Given the description of an element on the screen output the (x, y) to click on. 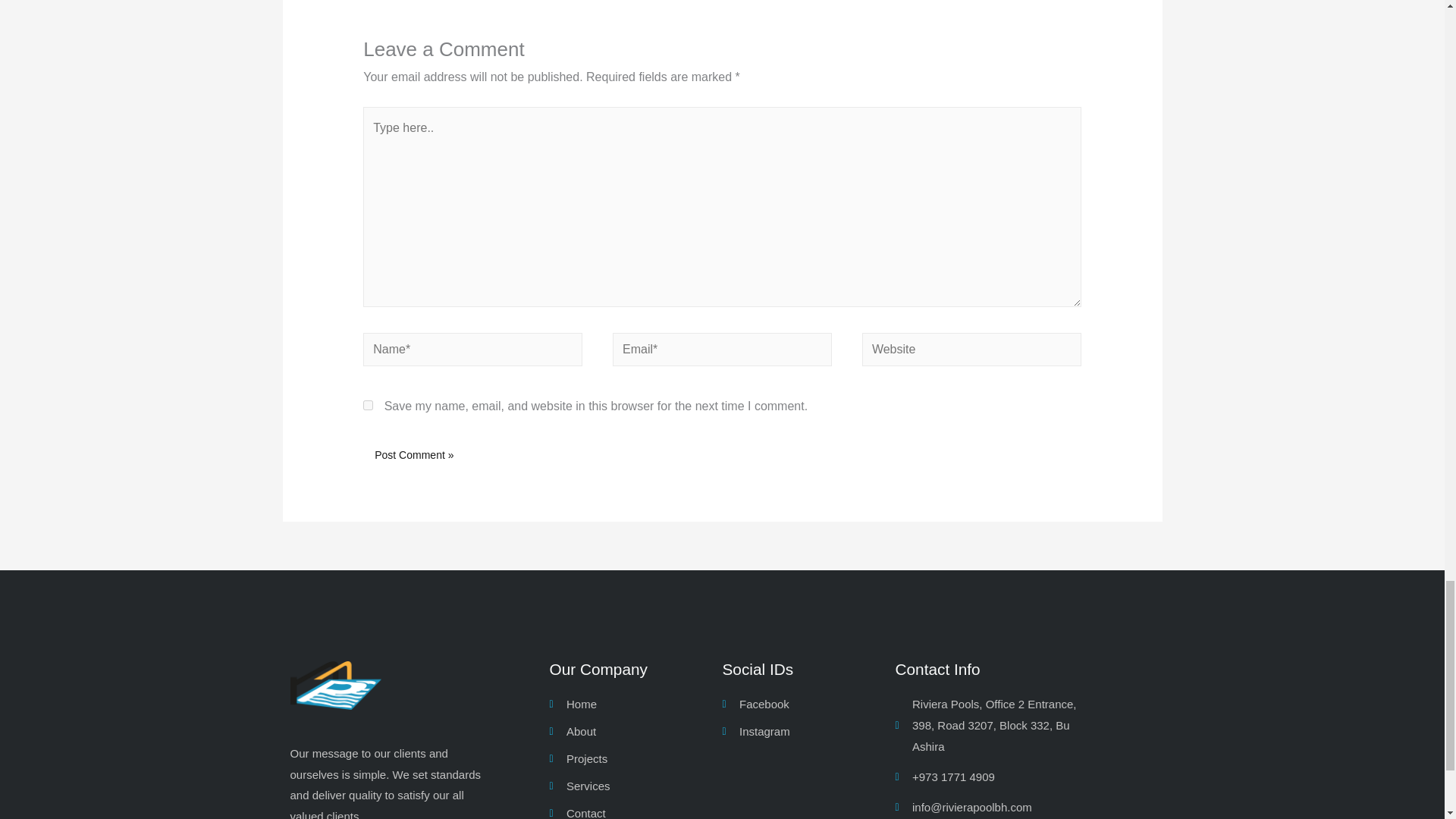
Projects (635, 758)
Home (635, 703)
Facebook (808, 703)
About (635, 731)
Services (635, 785)
Contact (635, 811)
yes (367, 405)
